Given the description of an element on the screen output the (x, y) to click on. 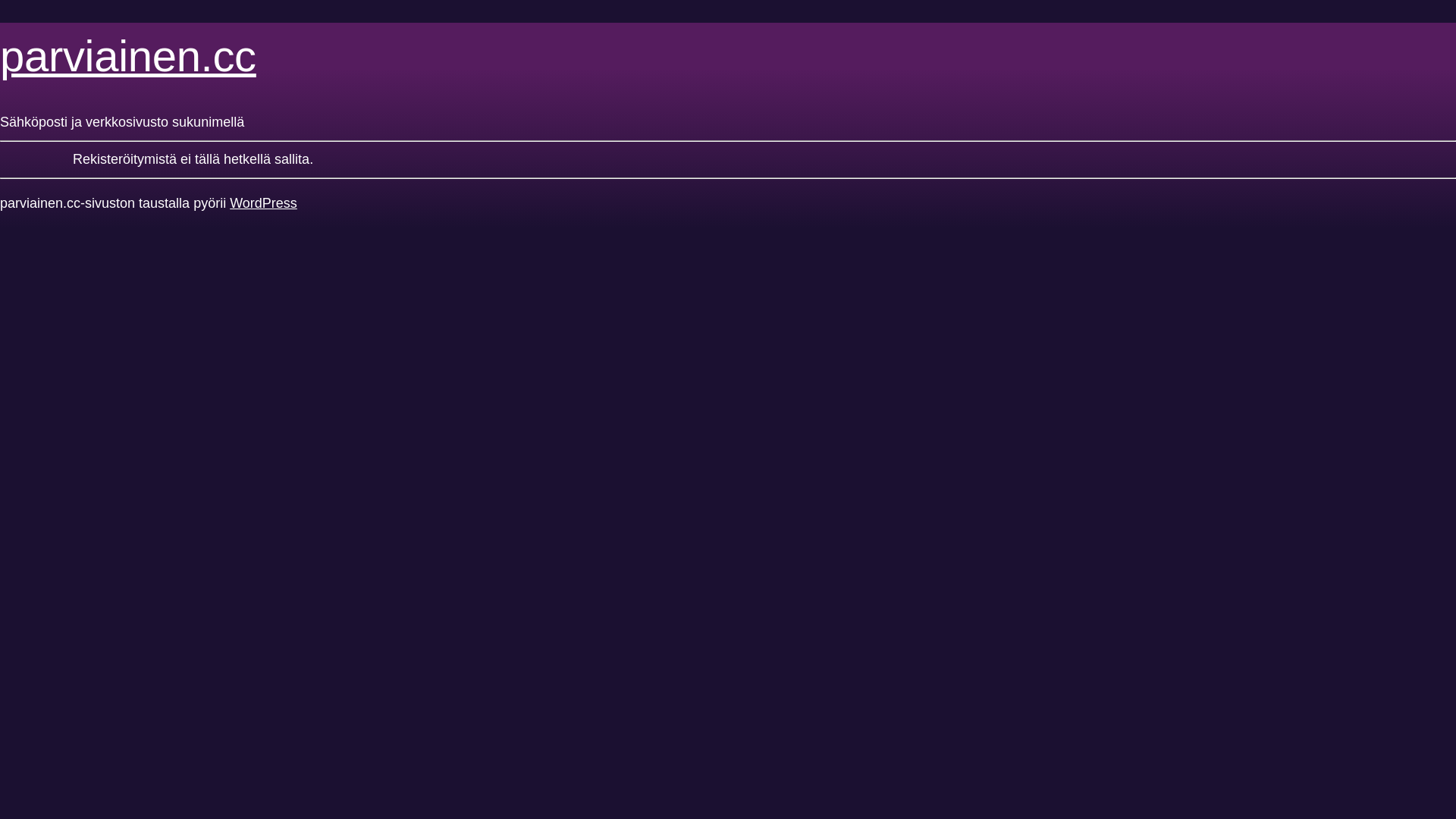
parviainen.cc Element type: text (128, 55)
WordPress Element type: text (263, 202)
